Given the description of an element on the screen output the (x, y) to click on. 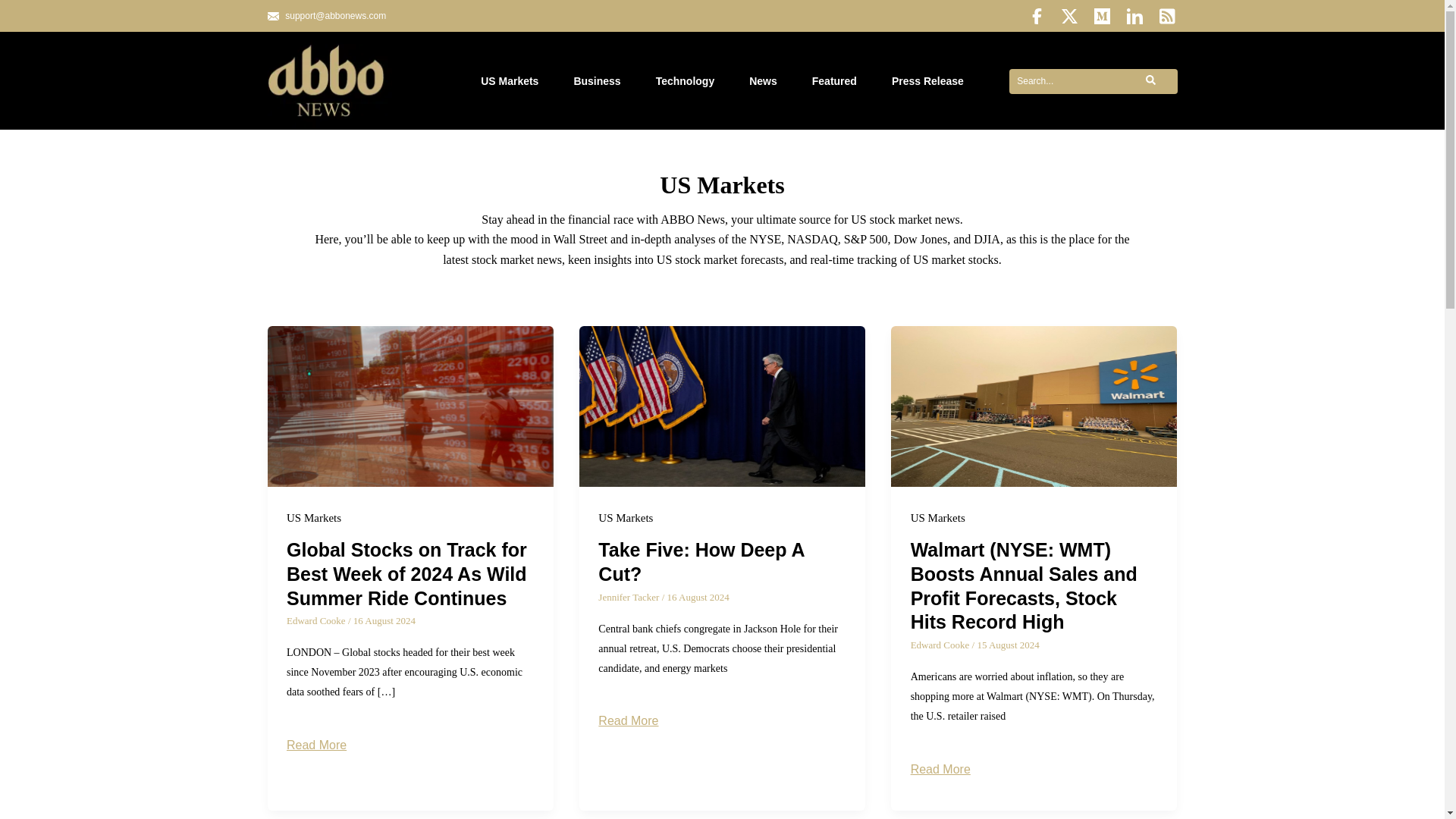
View all posts by Edward Cooke (941, 644)
Business (596, 81)
Featured (834, 81)
US Markets (509, 81)
Technology (685, 81)
View all posts by Edward Cooke (316, 620)
View all posts by Jennifer Tacker (629, 596)
Edward Cooke (316, 620)
News (763, 81)
